Given the description of an element on the screen output the (x, y) to click on. 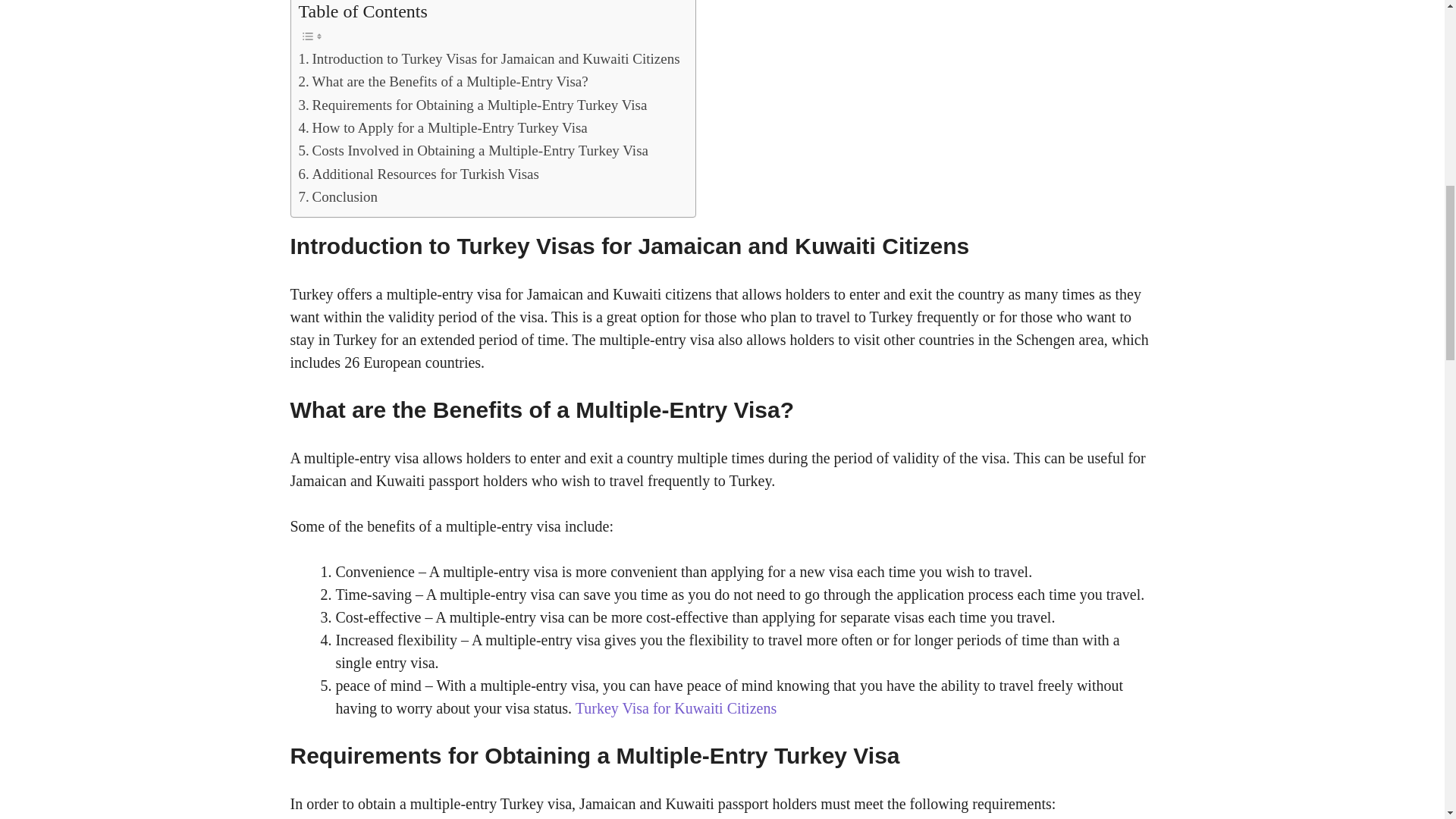
Conclusion (338, 196)
How to Apply for a Multiple-Entry Turkey Visa (443, 128)
Requirements for Obtaining a Multiple-Entry Turkey Visa (472, 105)
What are the Benefits of a Multiple-Entry Visa? (443, 81)
Requirements for Obtaining a Multiple-Entry Turkey Visa (472, 105)
Costs Involved in Obtaining a Multiple-Entry Turkey Visa (472, 150)
How to Apply for a Multiple-Entry Turkey Visa (443, 128)
Conclusion (338, 196)
What are the Benefits of a Multiple-Entry Visa? (443, 81)
